Given the description of an element on the screen output the (x, y) to click on. 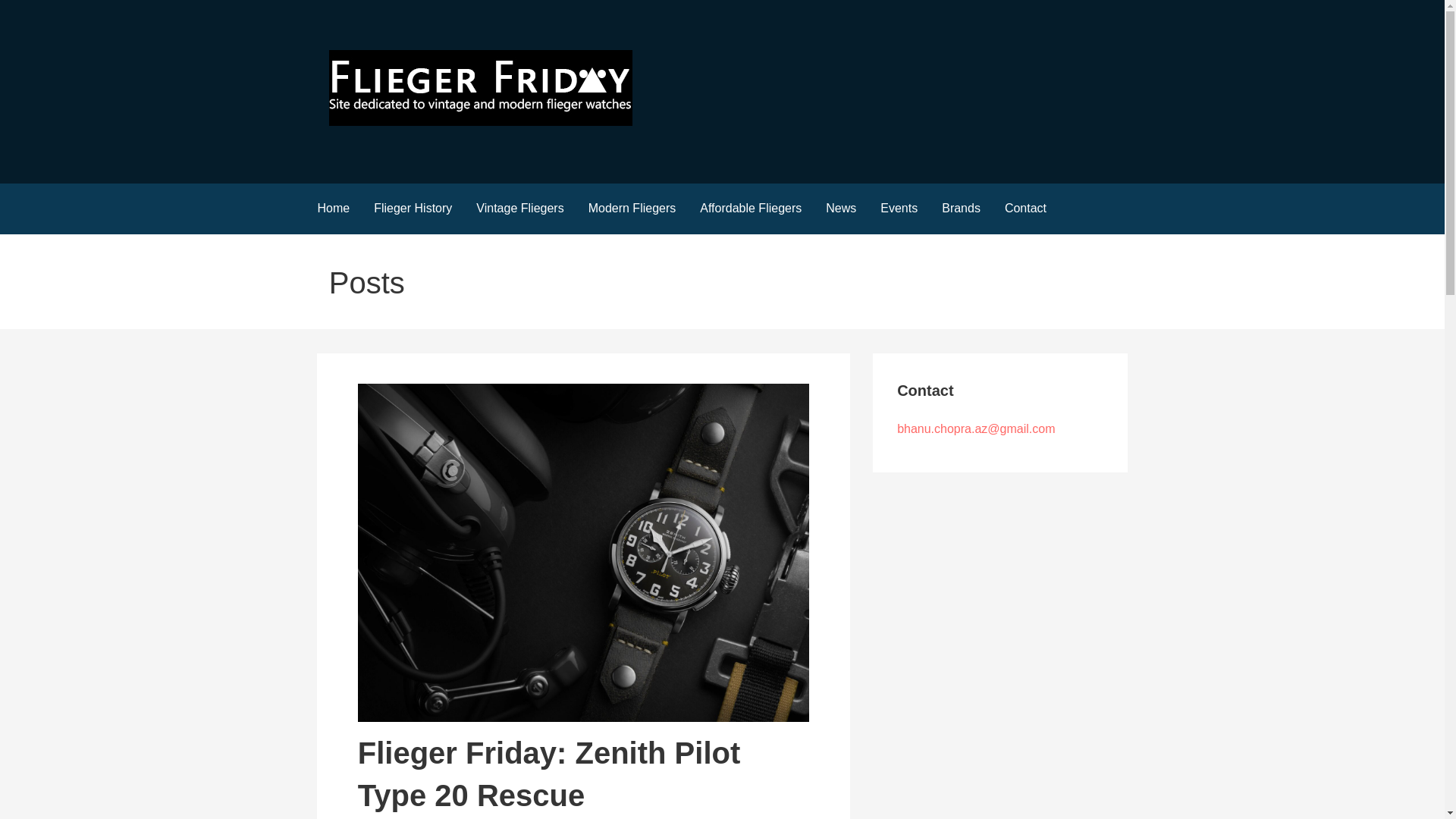
Brands (961, 208)
Affordable Fliegers (750, 208)
News (840, 208)
Flieger Friday (403, 152)
Vintage Fliegers (519, 208)
Events (898, 208)
Modern Fliegers (632, 208)
Contact (1025, 208)
Home (332, 208)
Flieger History (412, 208)
